Given the description of an element on the screen output the (x, y) to click on. 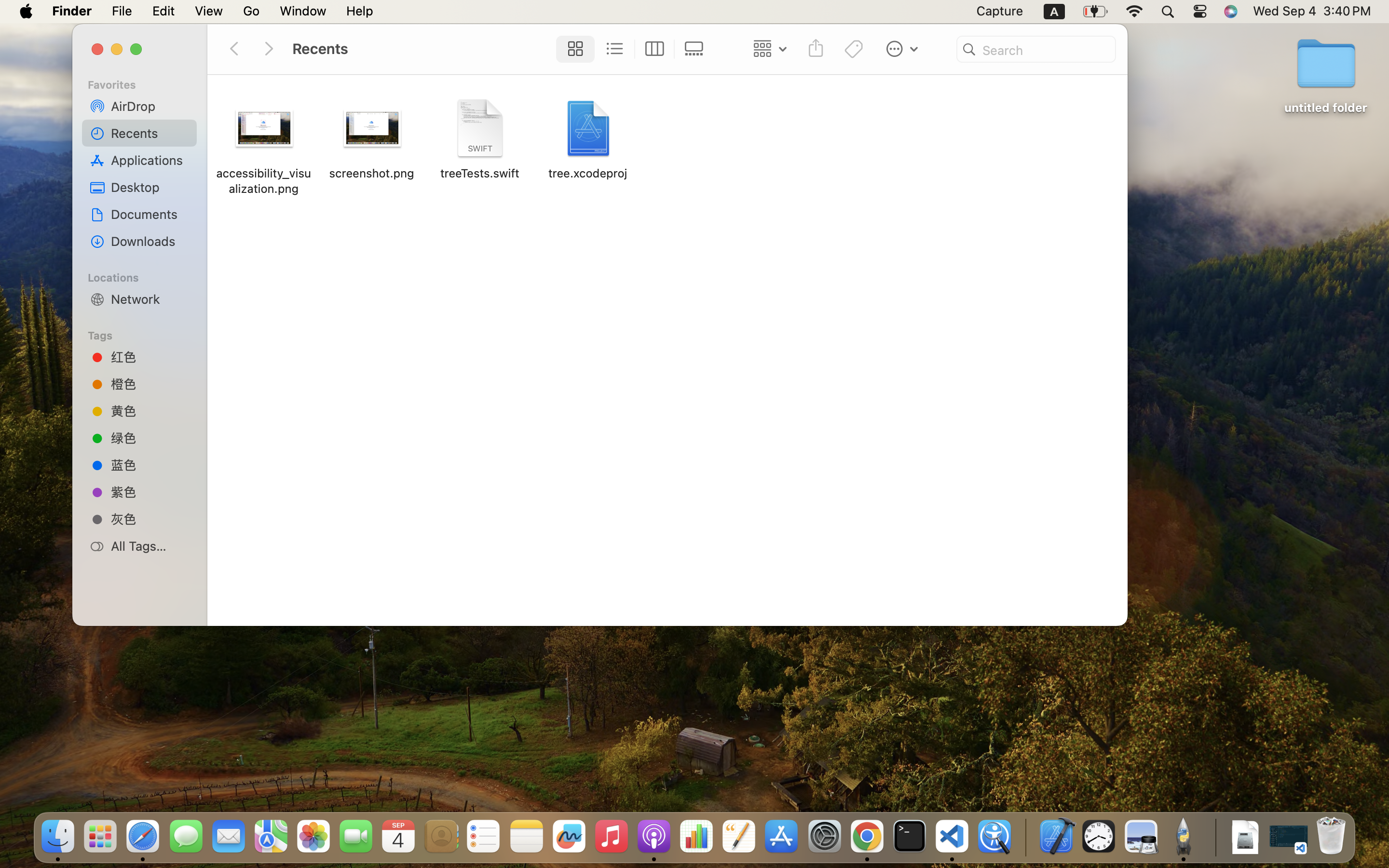
Documents Element type: AXStaticText (149, 213)
Locations Element type: AXStaticText (144, 276)
